Given the description of an element on the screen output the (x, y) to click on. 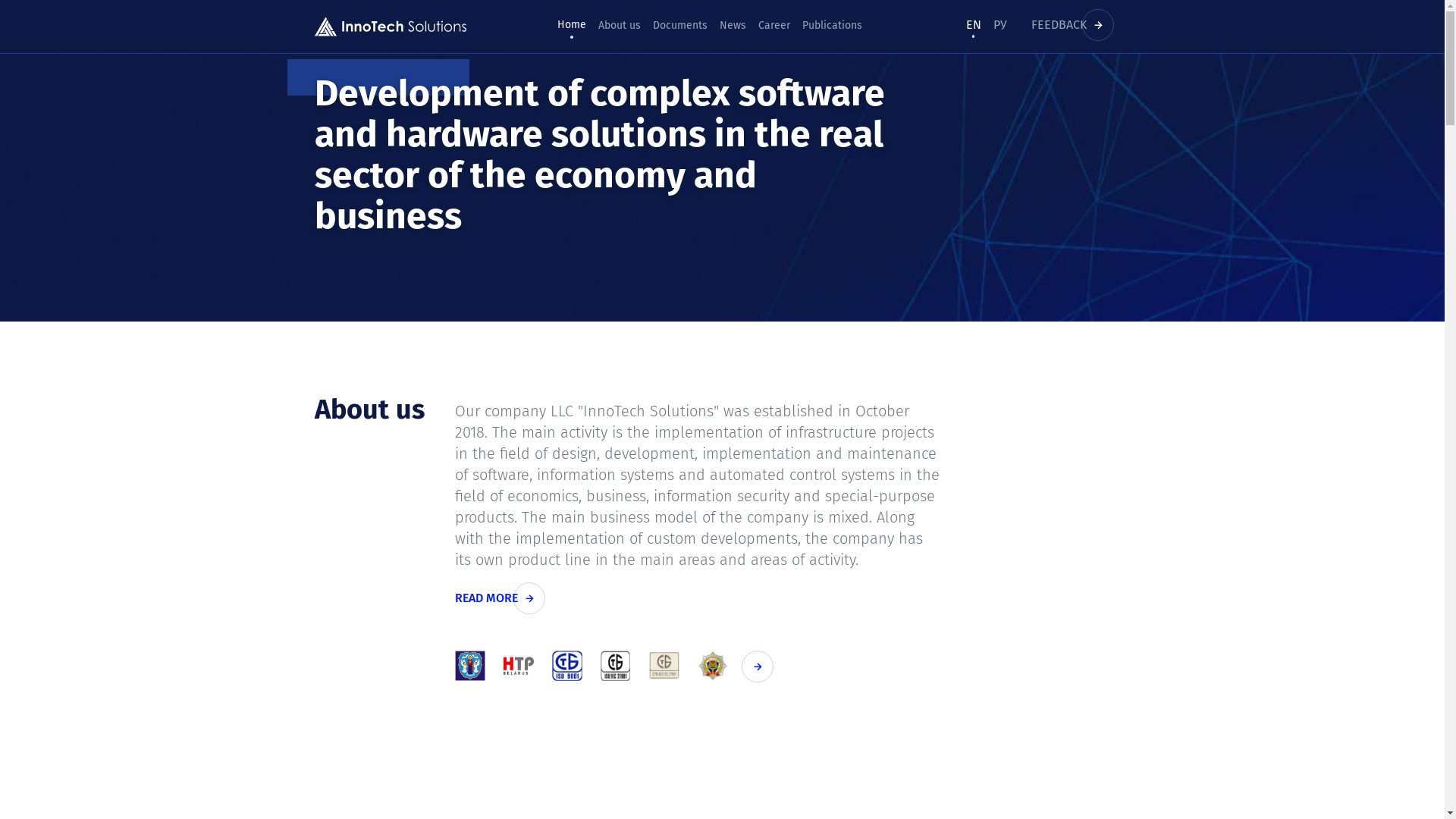
EN Element type: text (973, 24)
Publications Element type: text (832, 24)
About us Element type: text (619, 24)
Certificate of state registration of a legal entity Element type: hover (470, 665)
READ MORE Element type: text (502, 598)
Career Element type: text (774, 24)
Documents Element type: text (679, 24)
Home Element type: text (571, 24)
News Element type: text (732, 24)
FEEDBACK Element type: text (1074, 24)
Documents Element type: hover (762, 666)
